Given the description of an element on the screen output the (x, y) to click on. 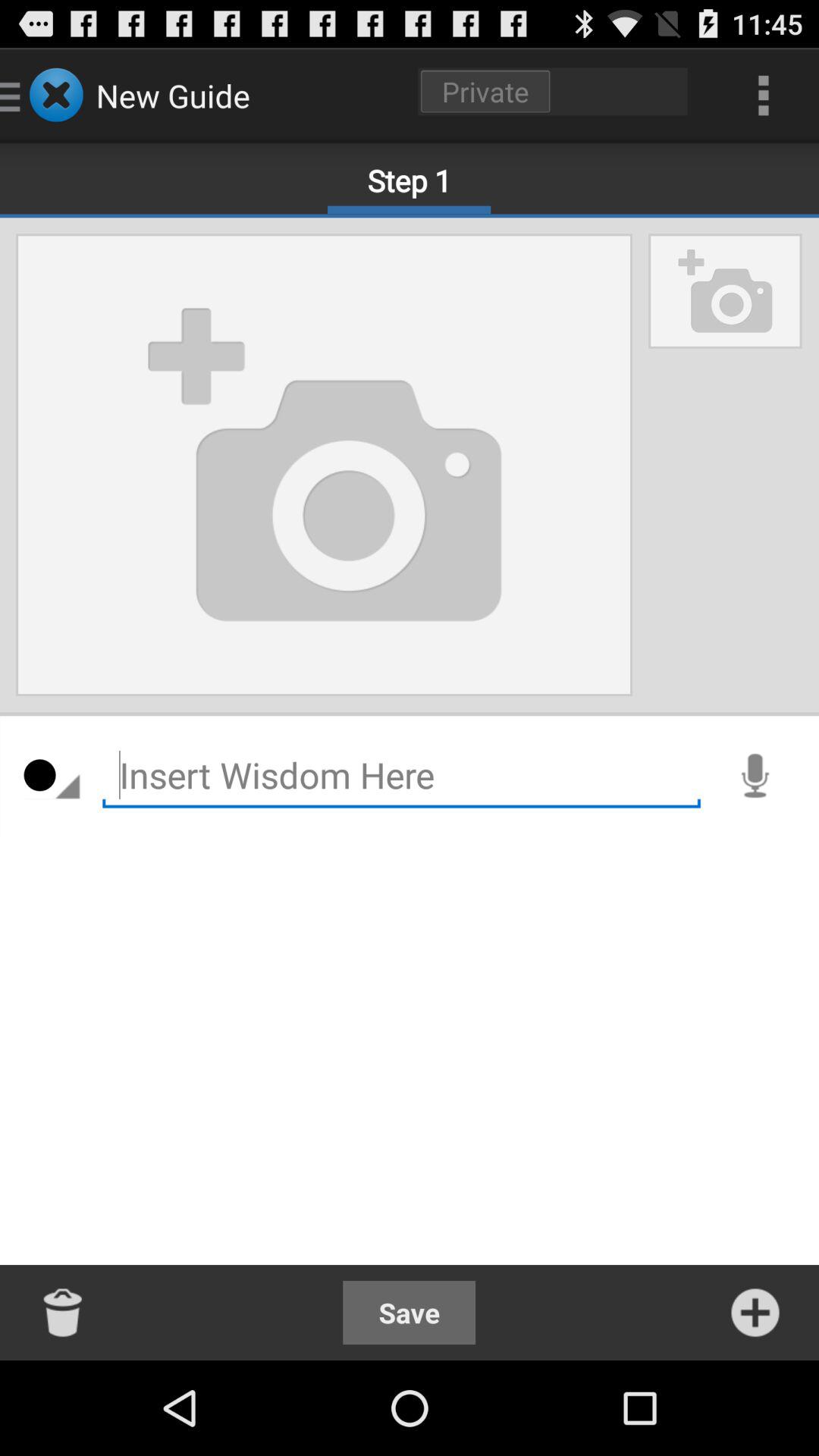
input tab (401, 775)
